Given the description of an element on the screen output the (x, y) to click on. 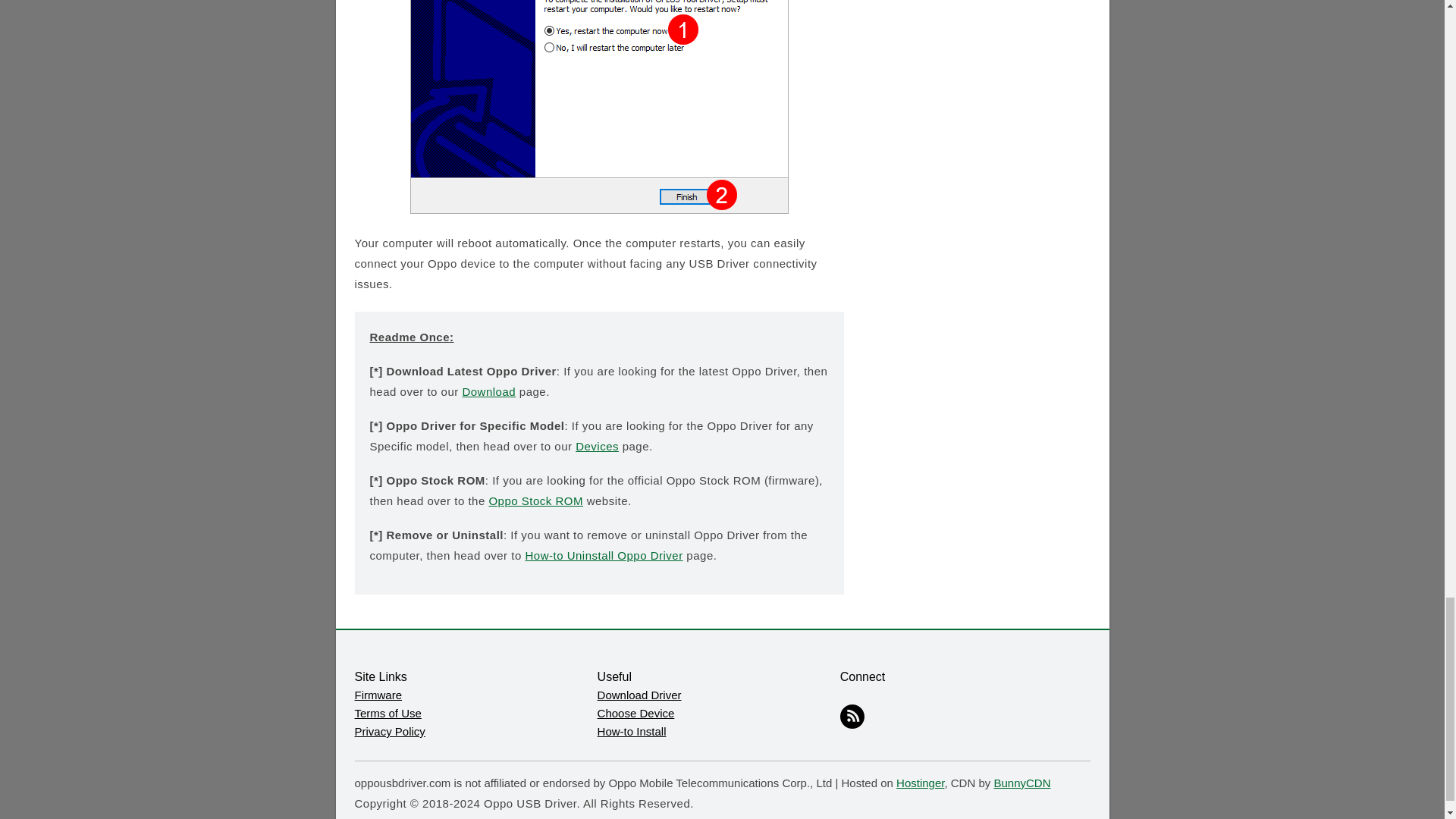
How-to Uninstall Oppo Driver (603, 554)
BunnyCDN (1020, 782)
Privacy Policy (390, 730)
Download Driver (638, 694)
Devices (596, 445)
How-to Install (631, 730)
Download (488, 391)
Firmware (379, 694)
Terms of Use (388, 712)
Hostinger (919, 782)
Choose Device (635, 712)
Oppo Stock ROM (535, 500)
